Given the description of an element on the screen output the (x, y) to click on. 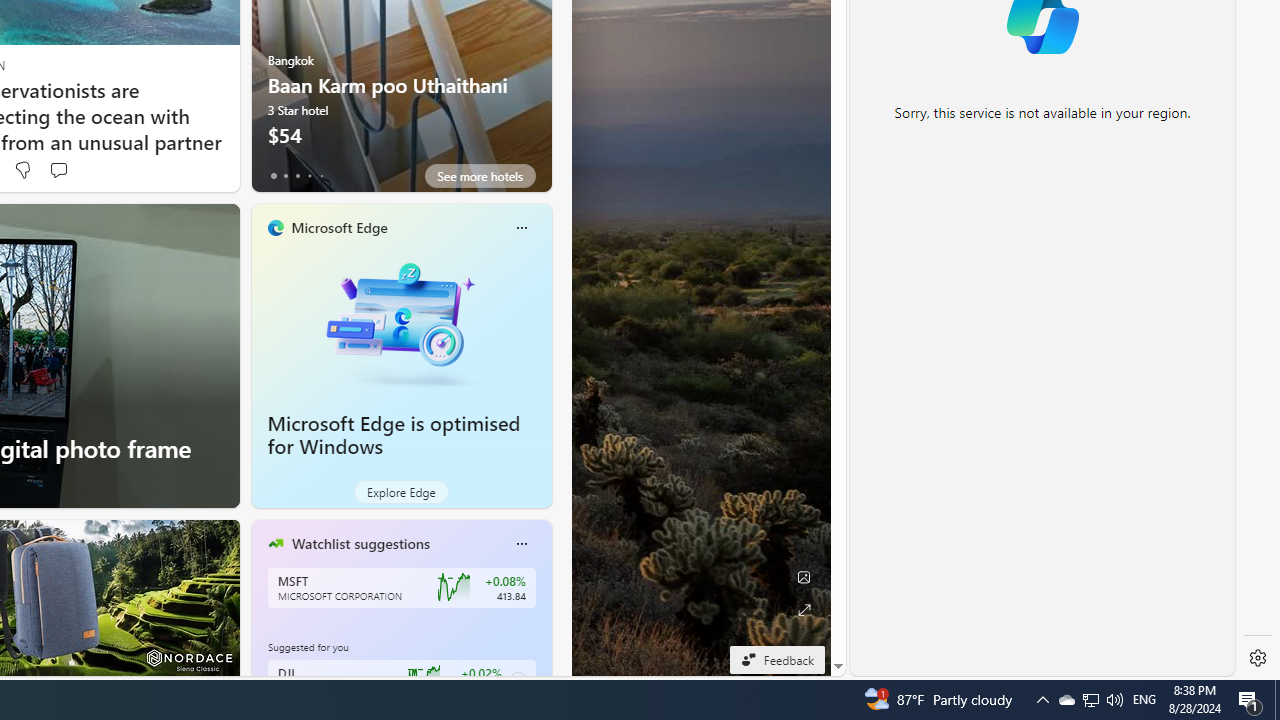
Watchlist suggestions (360, 543)
Microsoft Edge is optimised for Windows (401, 321)
Class: icon-img (521, 543)
Expand background (803, 610)
Settings (1258, 658)
tab-3 (309, 175)
tab-2 (297, 175)
Edit Background (803, 577)
Feedback (777, 659)
tab-0 (273, 175)
tab-1 (285, 175)
More options (521, 543)
Explore Edge (401, 491)
